Given the description of an element on the screen output the (x, y) to click on. 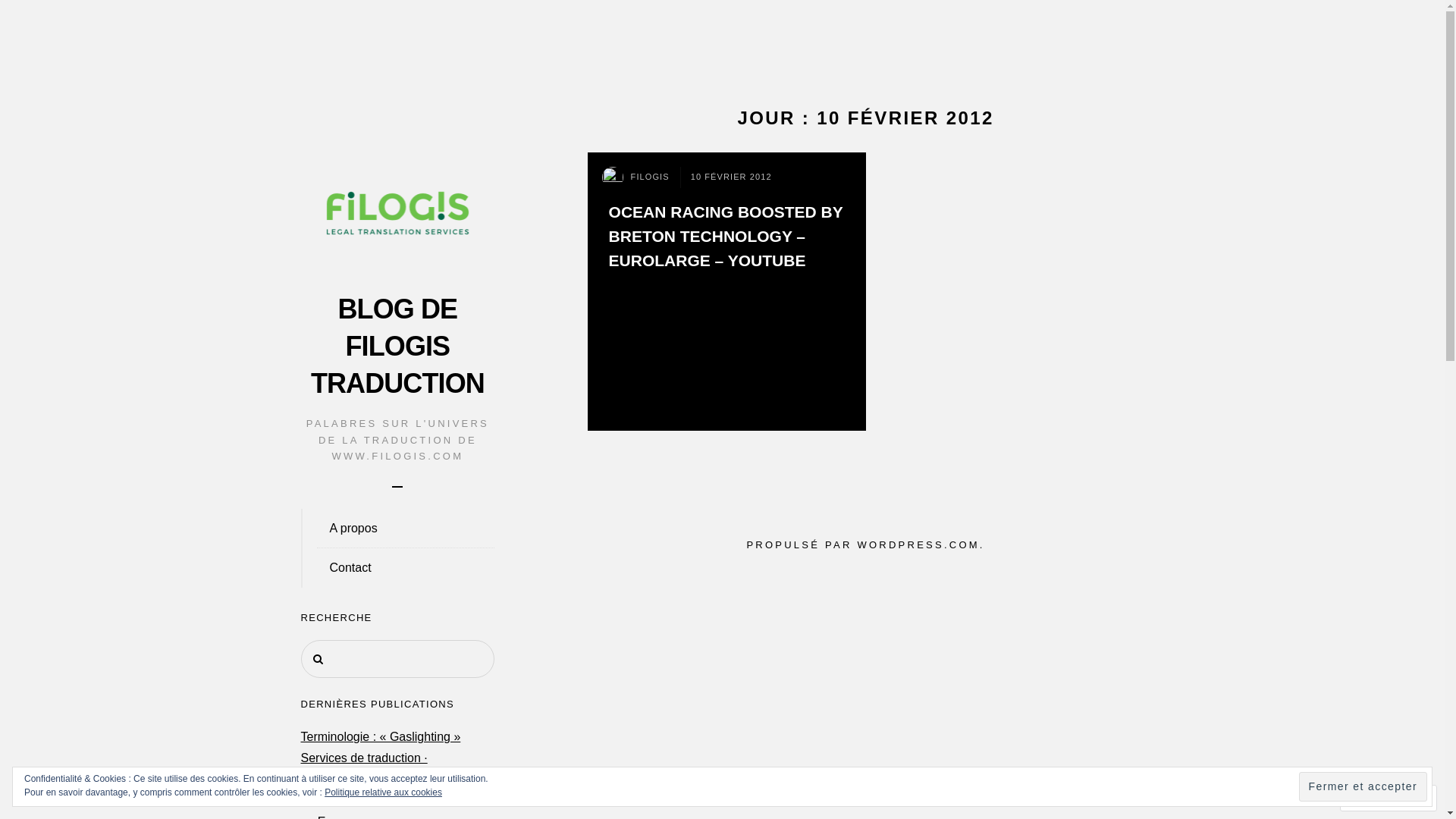
A propos Element type: text (397, 528)
Suivre Element type: text (1374, 797)
Contact Element type: text (397, 567)
Fermer et accepter Element type: text (1363, 786)
Politique relative aux cookies Element type: text (383, 792)
BLOG DE FILOGIS TRADUCTION Element type: text (397, 345)
